Given the description of an element on the screen output the (x, y) to click on. 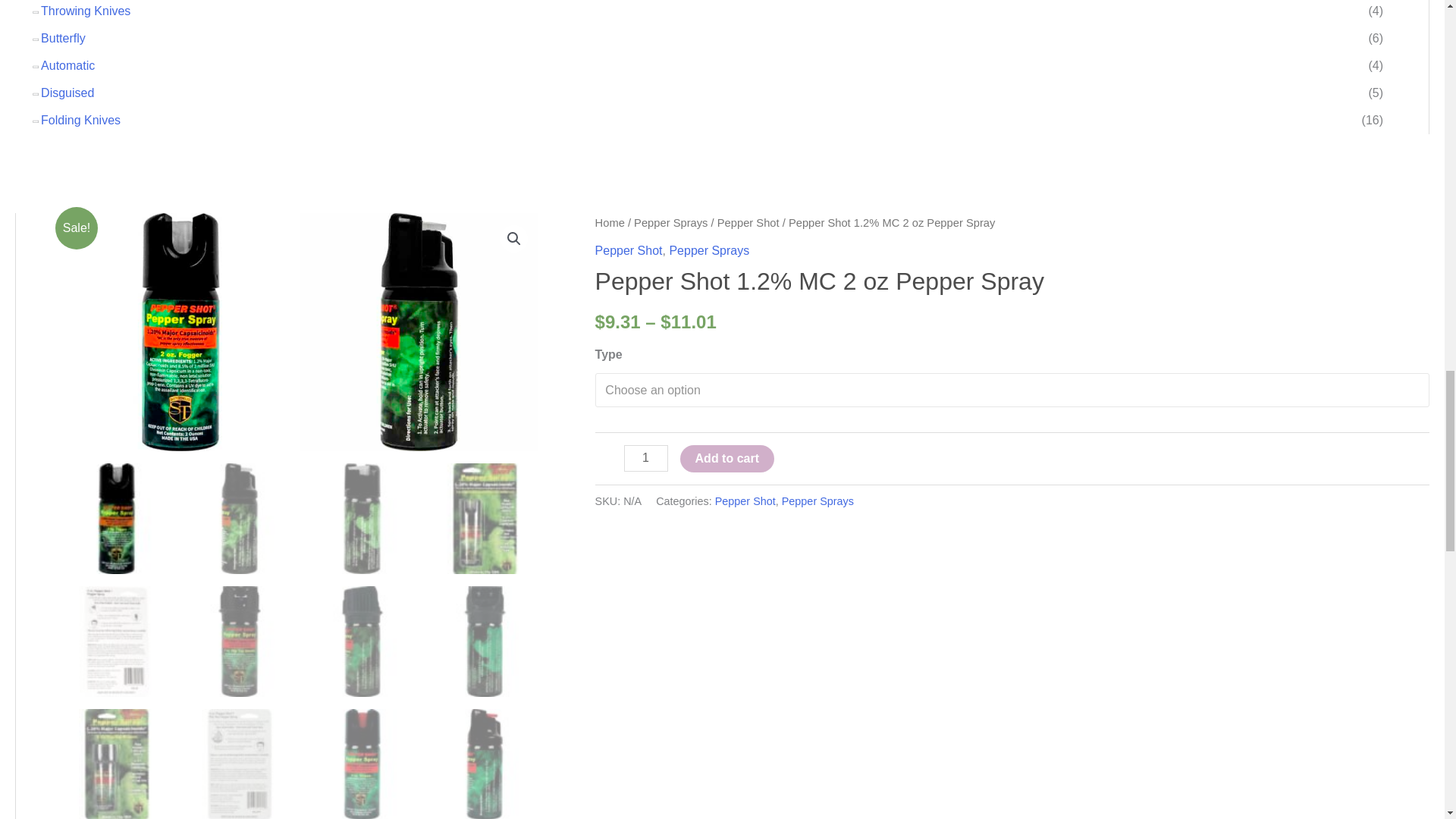
1 (646, 458)
